Given the description of an element on the screen output the (x, y) to click on. 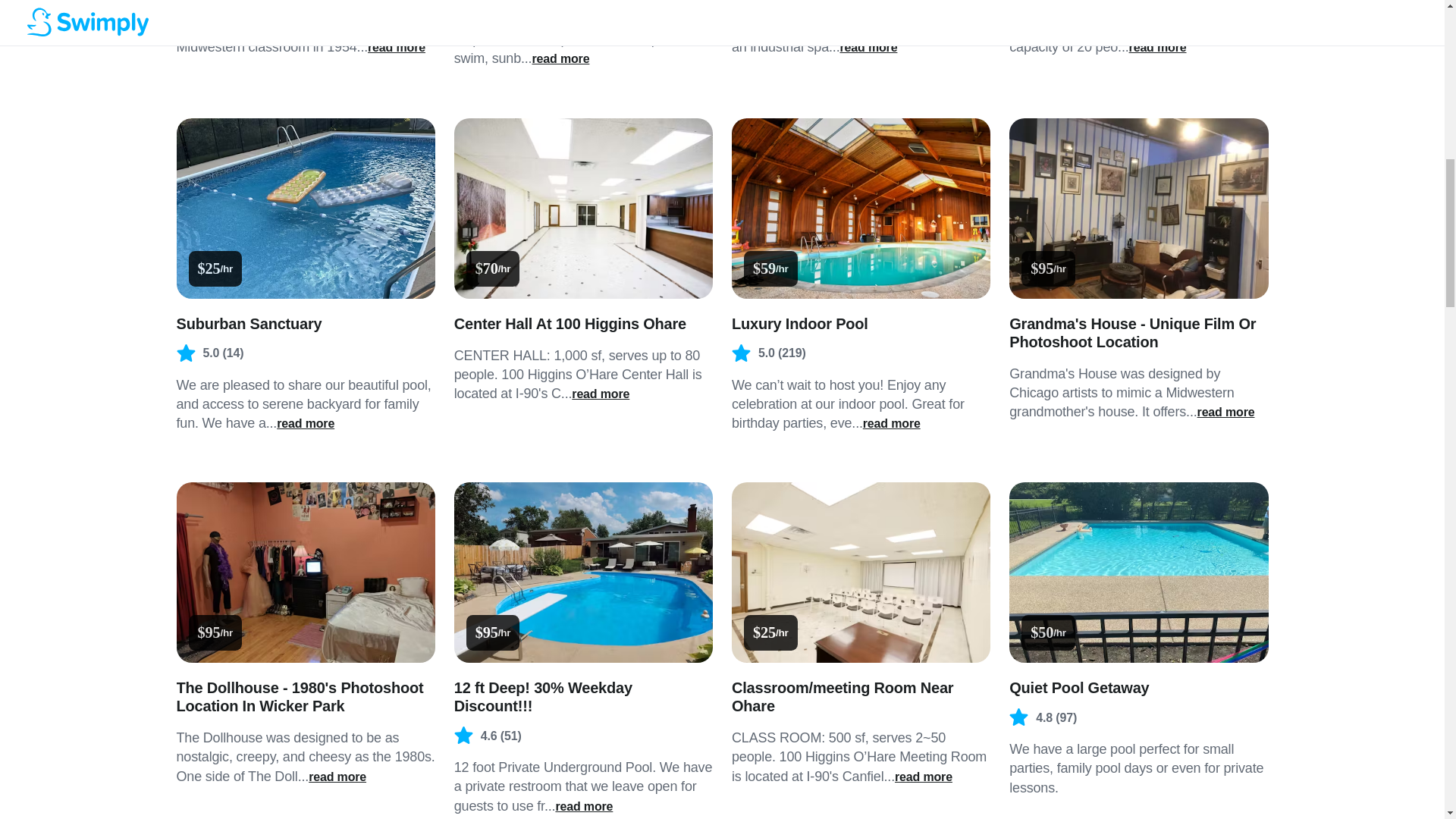
read more (583, 806)
read more (396, 47)
read more (923, 777)
read more (600, 393)
read more (1157, 47)
read more (891, 423)
read more (305, 423)
read more (337, 777)
read more (560, 58)
read more (1225, 412)
